Given the description of an element on the screen output the (x, y) to click on. 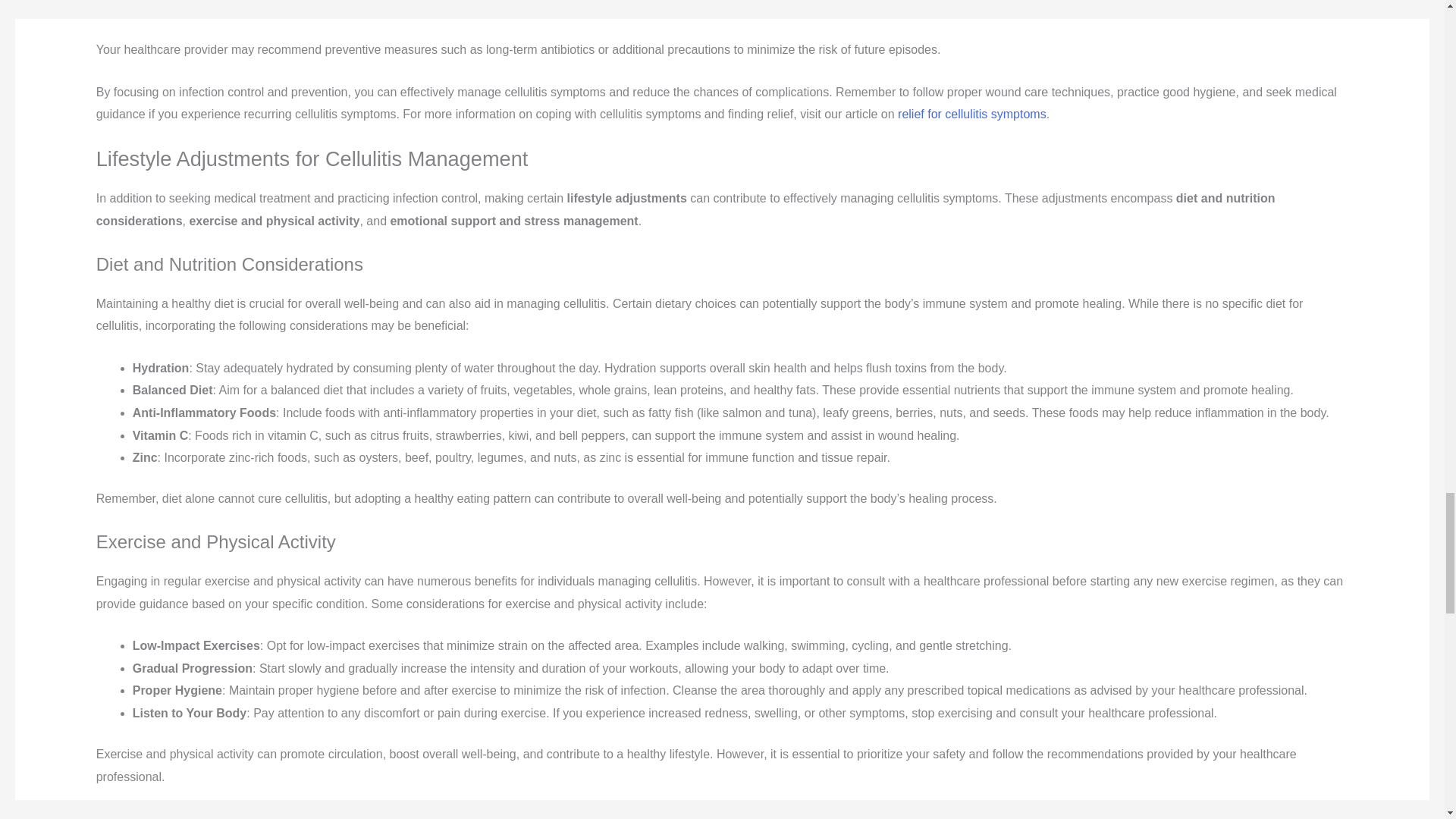
relief for cellulitis symptoms (972, 113)
